Given the description of an element on the screen output the (x, y) to click on. 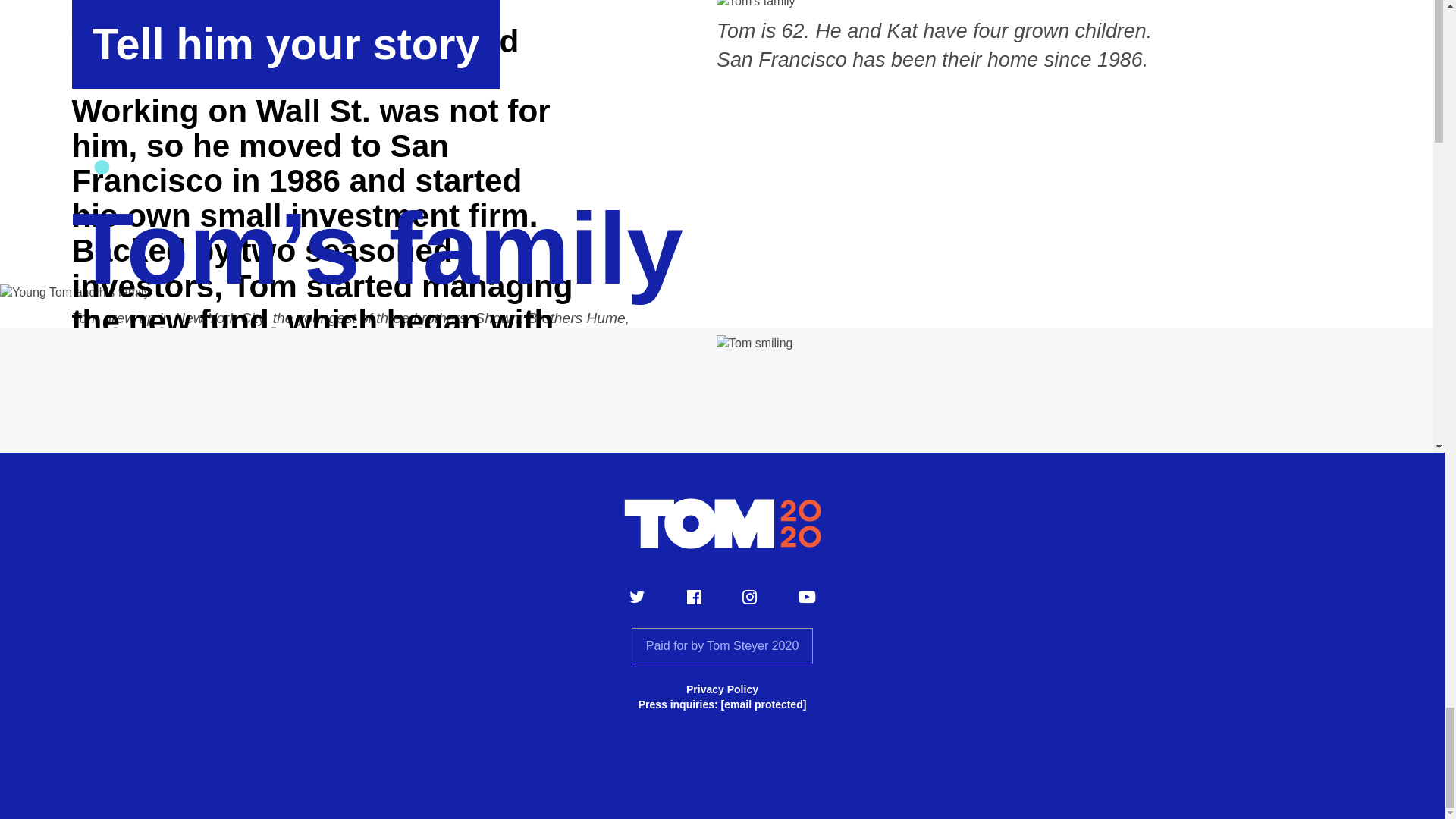
Follow Tom on YouTube (806, 598)
Follow Tom on Twitter (636, 598)
Follow Tom on Instagram (749, 598)
Privacy Policy (722, 688)
Follow Tom on Facebook (694, 598)
Tell him your story (285, 44)
